Given the description of an element on the screen output the (x, y) to click on. 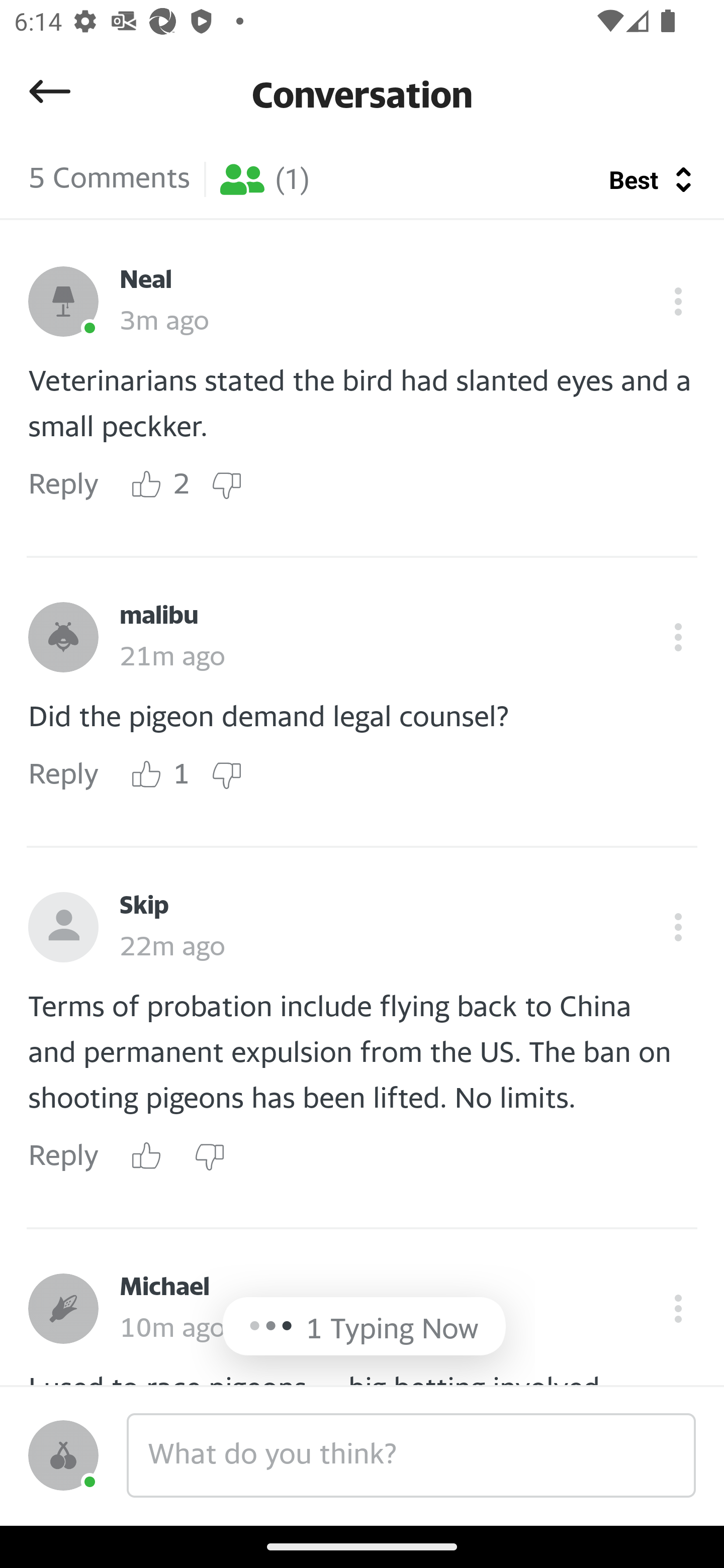
Best (635, 179)
Profile image (63, 301)
Options menu (677, 301)
Neal (145, 280)
Reply (62, 485)
Up vote button Up vote button Up vote button (146, 485)
Down vote button Down vote button Down vote button (226, 485)
Profile image (63, 637)
Options menu (677, 637)
malibu (158, 615)
Reply (62, 774)
Up vote button Up vote button Up vote button (146, 775)
Down vote button Down vote button Down vote button (226, 775)
Profile image (63, 927)
Options menu (677, 927)
Skip (143, 905)
Reply (62, 1156)
Up vote button Up vote button Up vote button (146, 1156)
Down vote button Down vote button Down vote button (209, 1156)
Profile image (63, 1308)
Options menu (677, 1308)
Michael (164, 1286)
What do you think? (410, 1454)
Profile image (63, 1455)
